Given the description of an element on the screen output the (x, y) to click on. 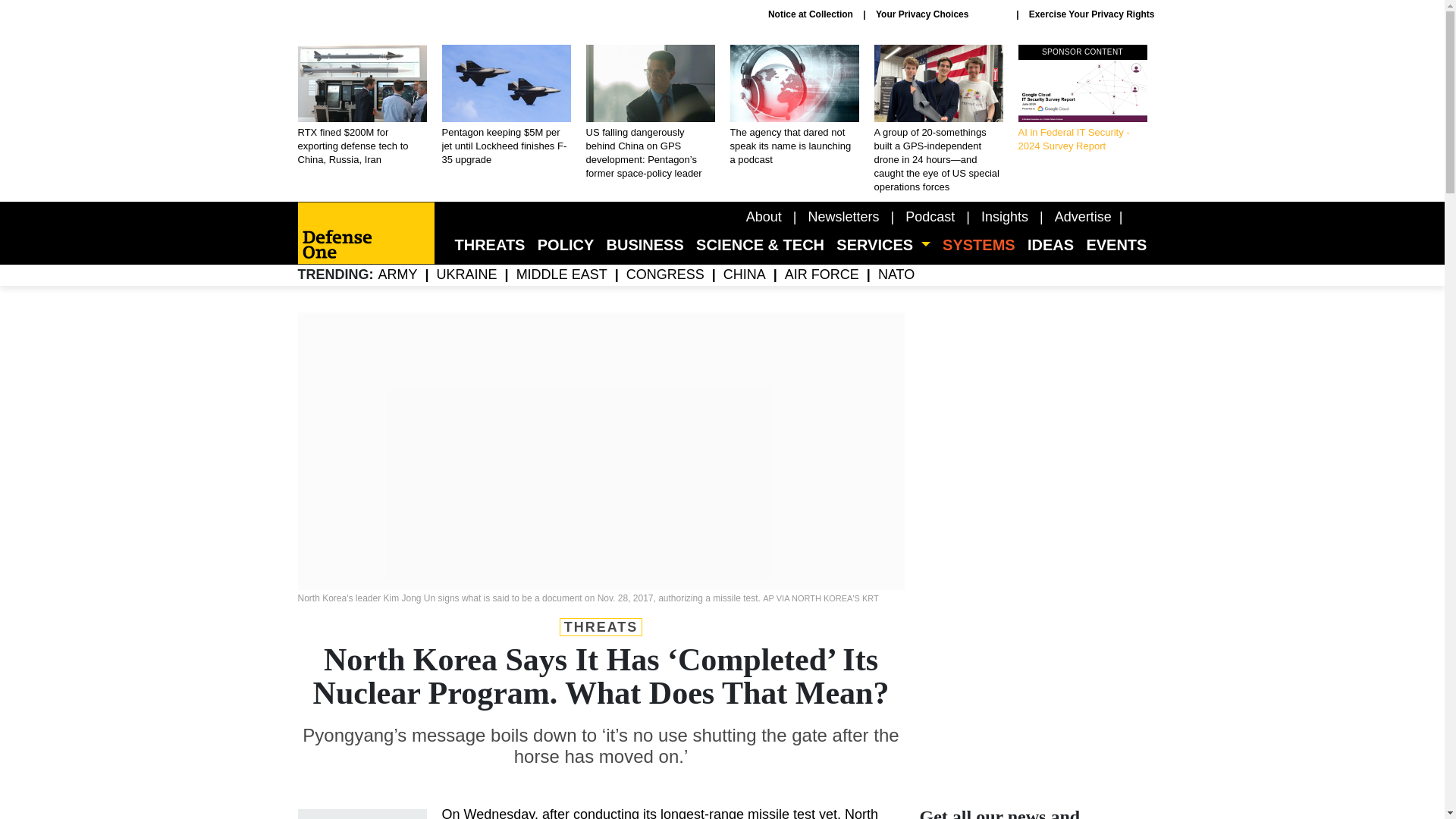
Insights (1004, 216)
About (763, 216)
Advertise (1083, 216)
Newsletters (843, 216)
Podcast (930, 216)
Your Privacy Choices (941, 14)
Notice at Collection (810, 14)
